Given the description of an element on the screen output the (x, y) to click on. 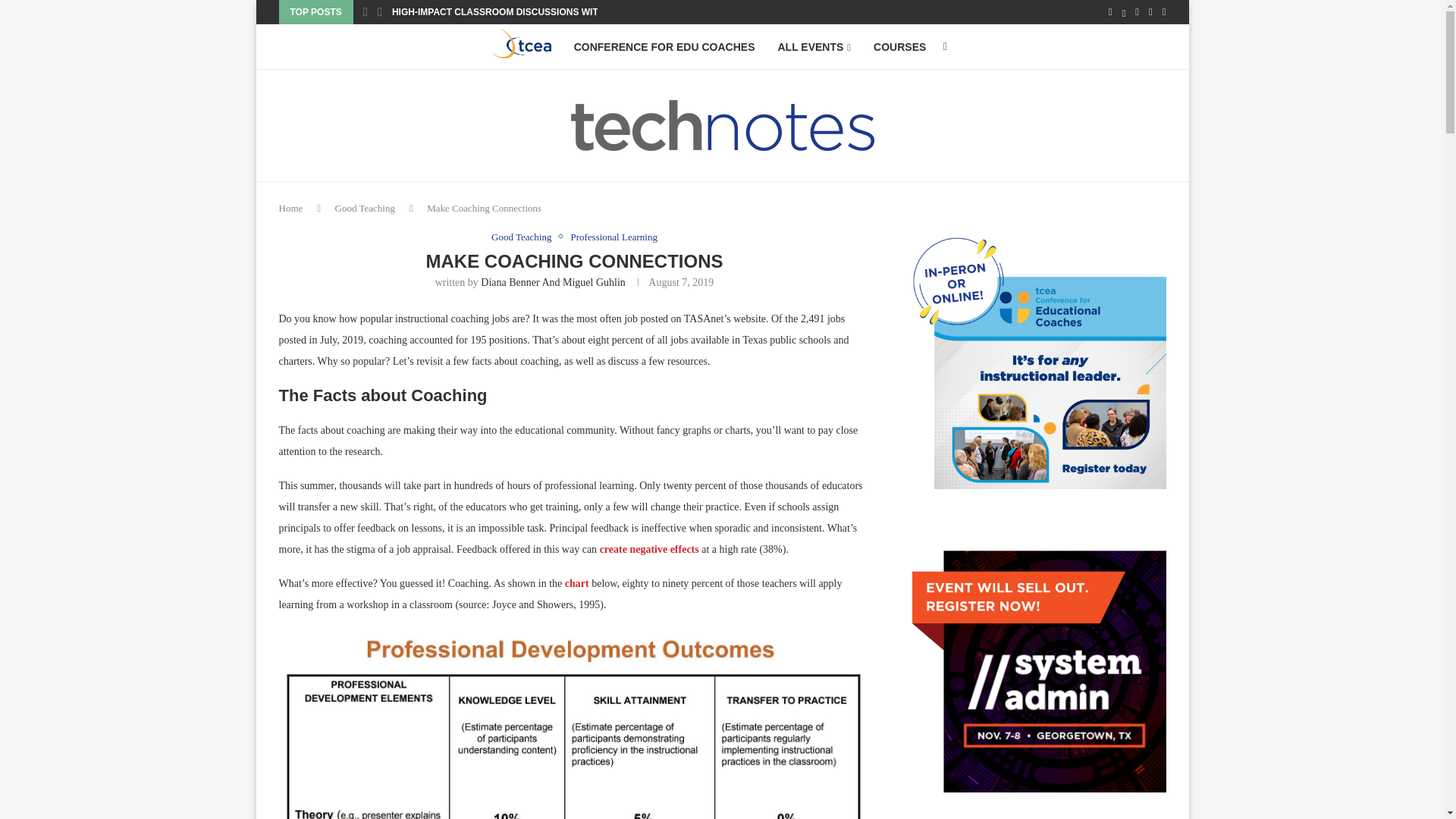
Home (290, 207)
Good Teaching (364, 207)
CONFERENCE FOR EDU COACHES (664, 46)
chart (576, 583)
create negative effects (648, 549)
Diana Benner And Miguel Guhlin (553, 282)
HIGH-IMPACT CLASSROOM DISCUSSIONS WITH GOOGLE (518, 12)
Professional Learning (613, 236)
Good Teaching (525, 236)
COURSES (899, 46)
